Given the description of an element on the screen output the (x, y) to click on. 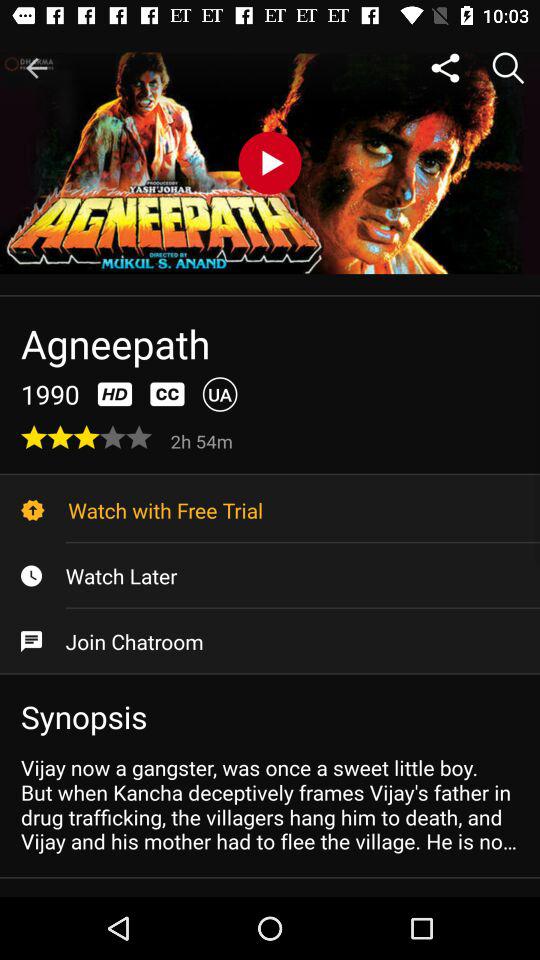
choose 2h 54m  icon (203, 440)
